Given the description of an element on the screen output the (x, y) to click on. 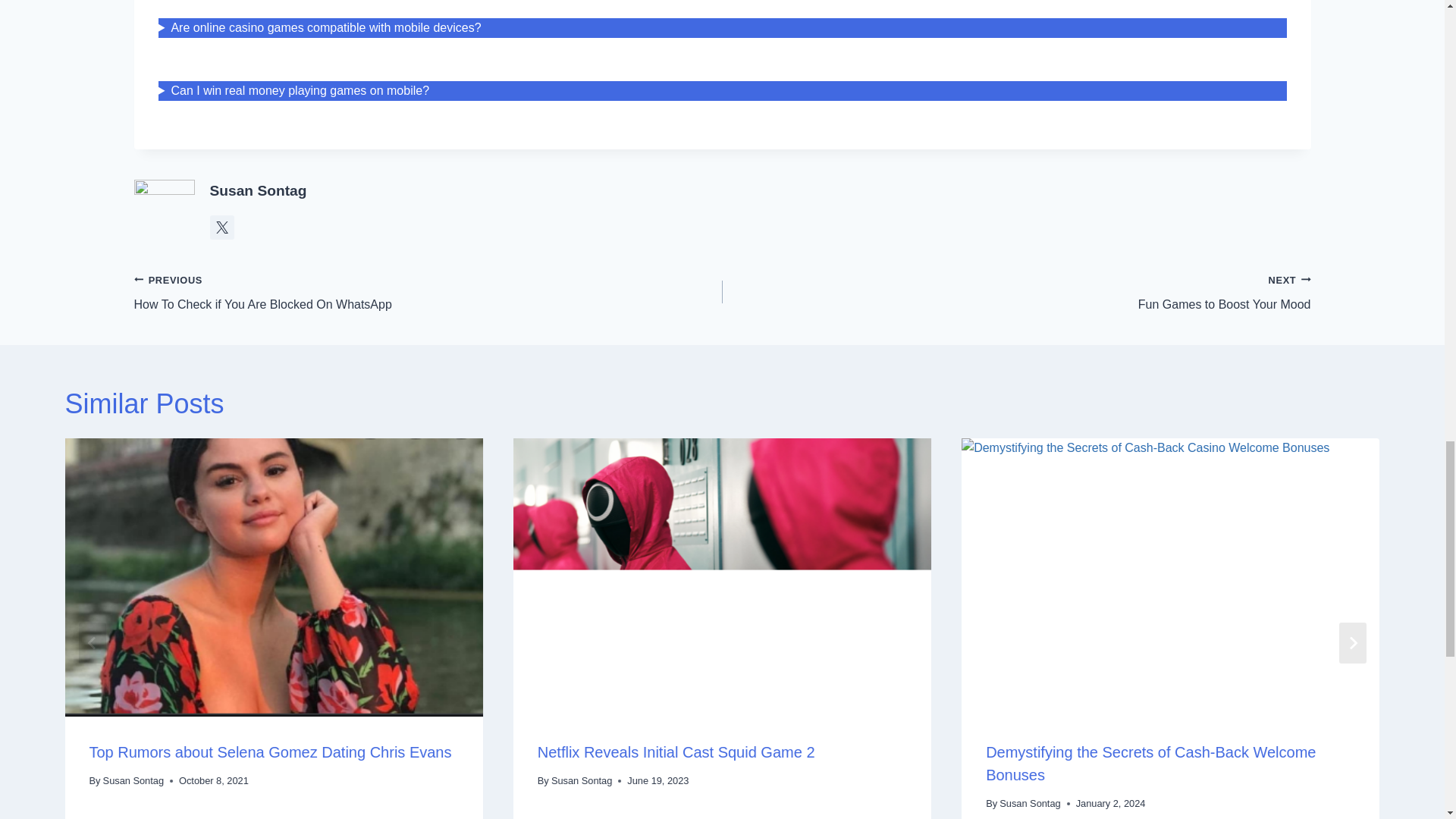
Posts by Susan Sontag (257, 190)
Susan Sontag (427, 292)
Follow Susan Sontag on X formerly Twitter (1016, 292)
